Given the description of an element on the screen output the (x, y) to click on. 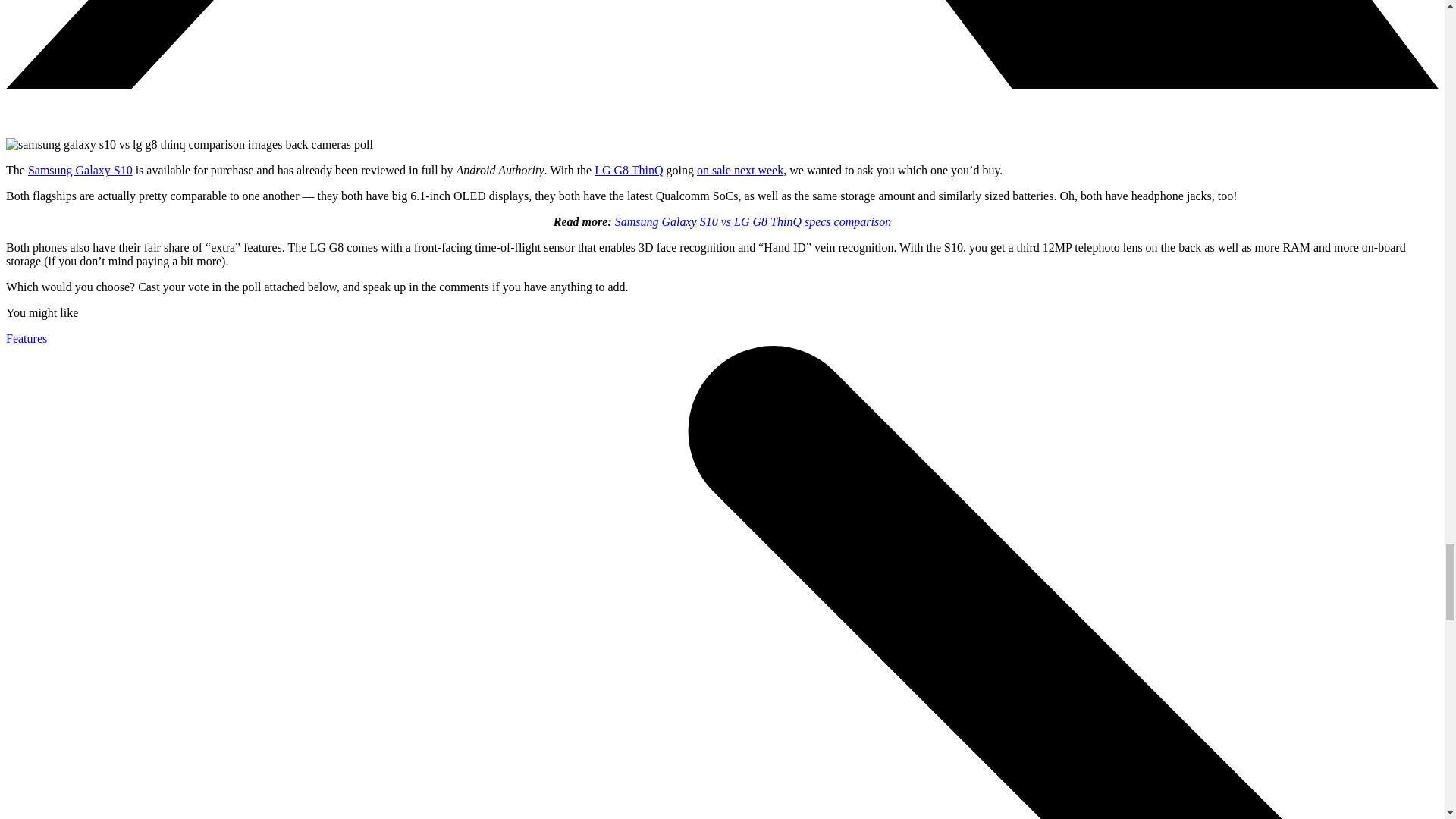
samsung galaxy s10 vs lg g8 thinq poll-imp (188, 144)
LG G8 ThinQ (628, 169)
on sale next week (740, 169)
Samsung Galaxy S10 vs LG G8 ThinQ specs comparison (752, 221)
Features (25, 338)
Samsung Galaxy S10 (79, 169)
